Given the description of an element on the screen output the (x, y) to click on. 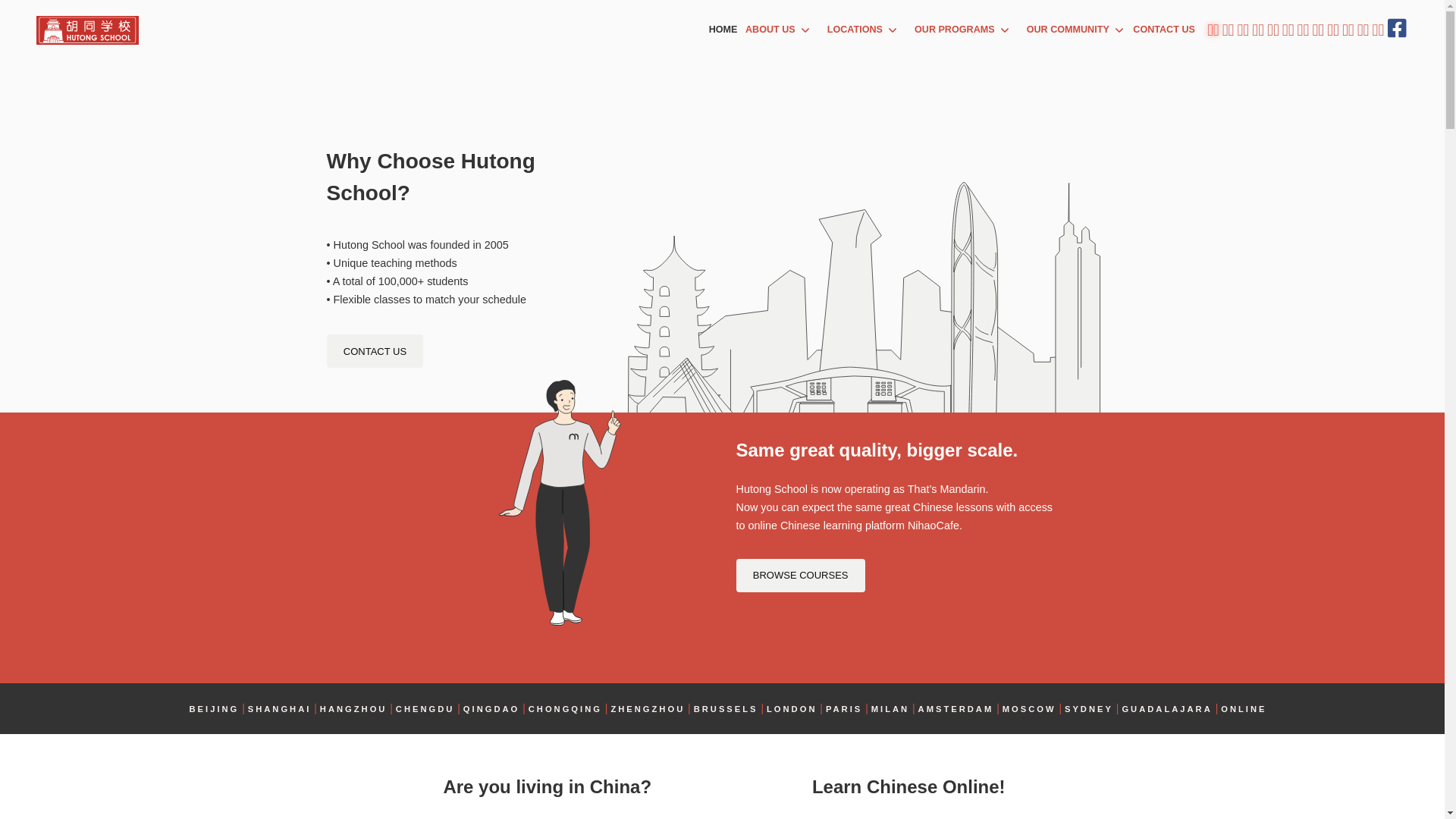
HOME (723, 30)
